Given the description of an element on the screen output the (x, y) to click on. 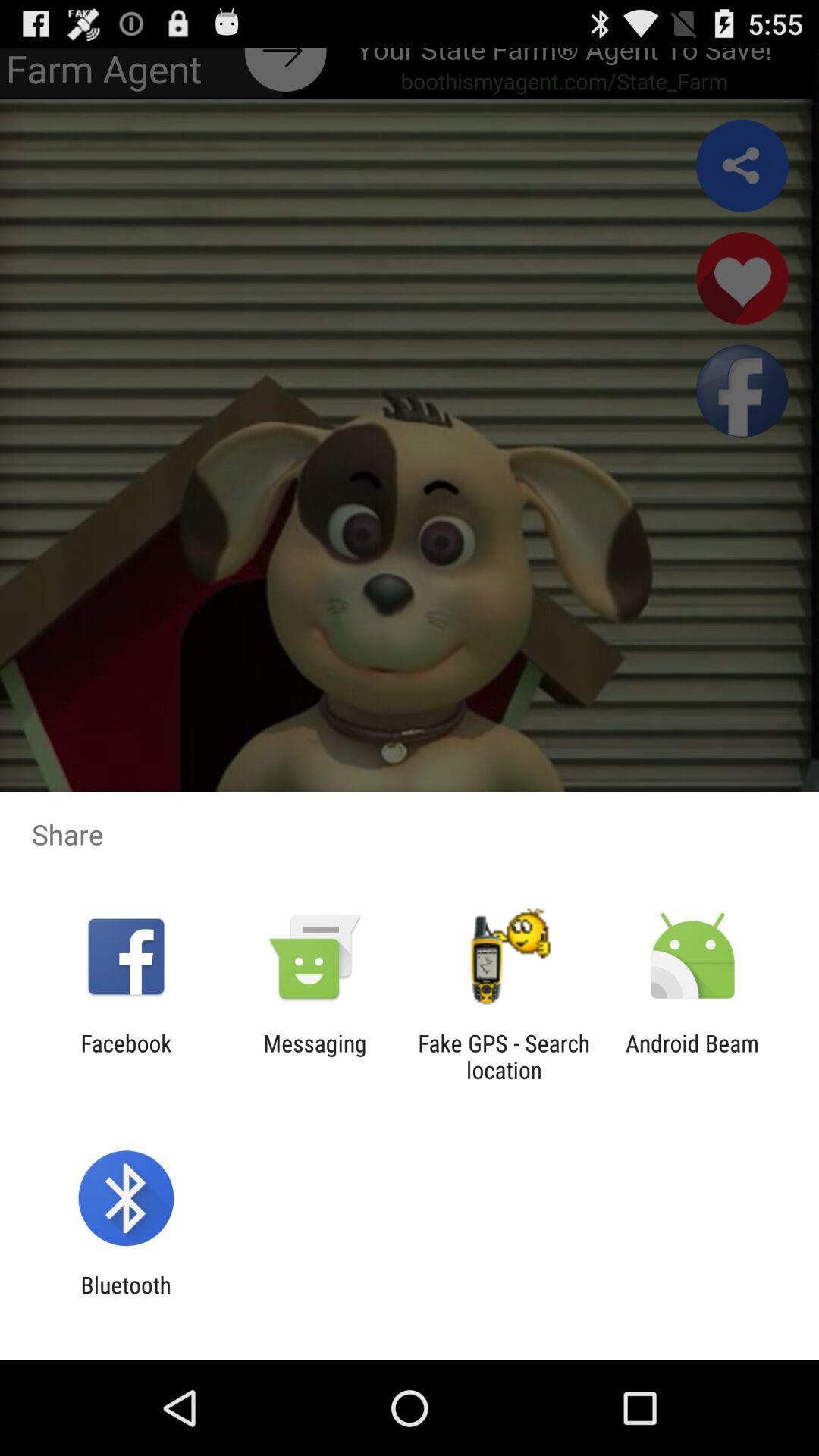
click app to the left of the messaging item (125, 1056)
